Given the description of an element on the screen output the (x, y) to click on. 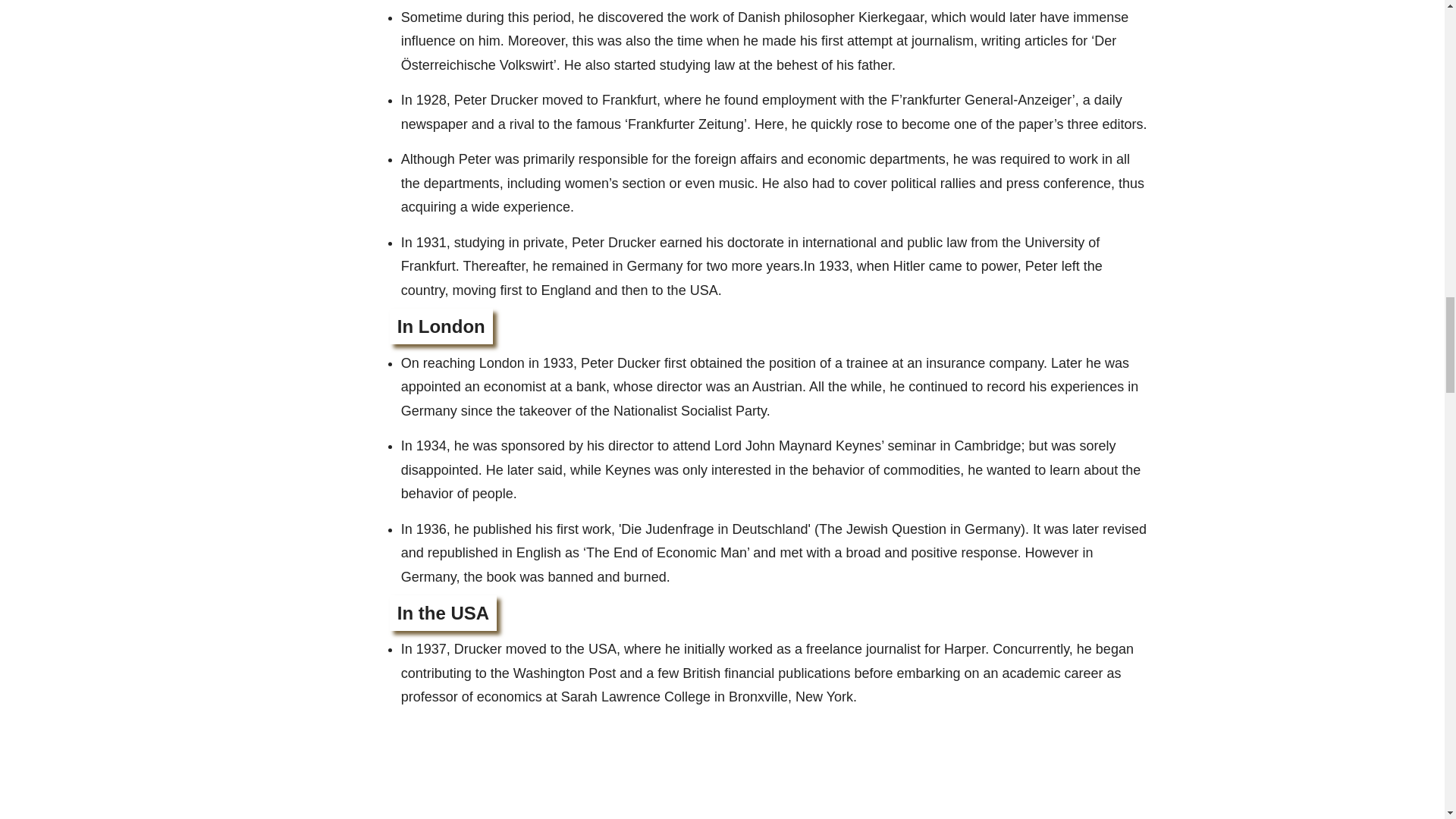
Advertisement (770, 770)
